Given the description of an element on the screen output the (x, y) to click on. 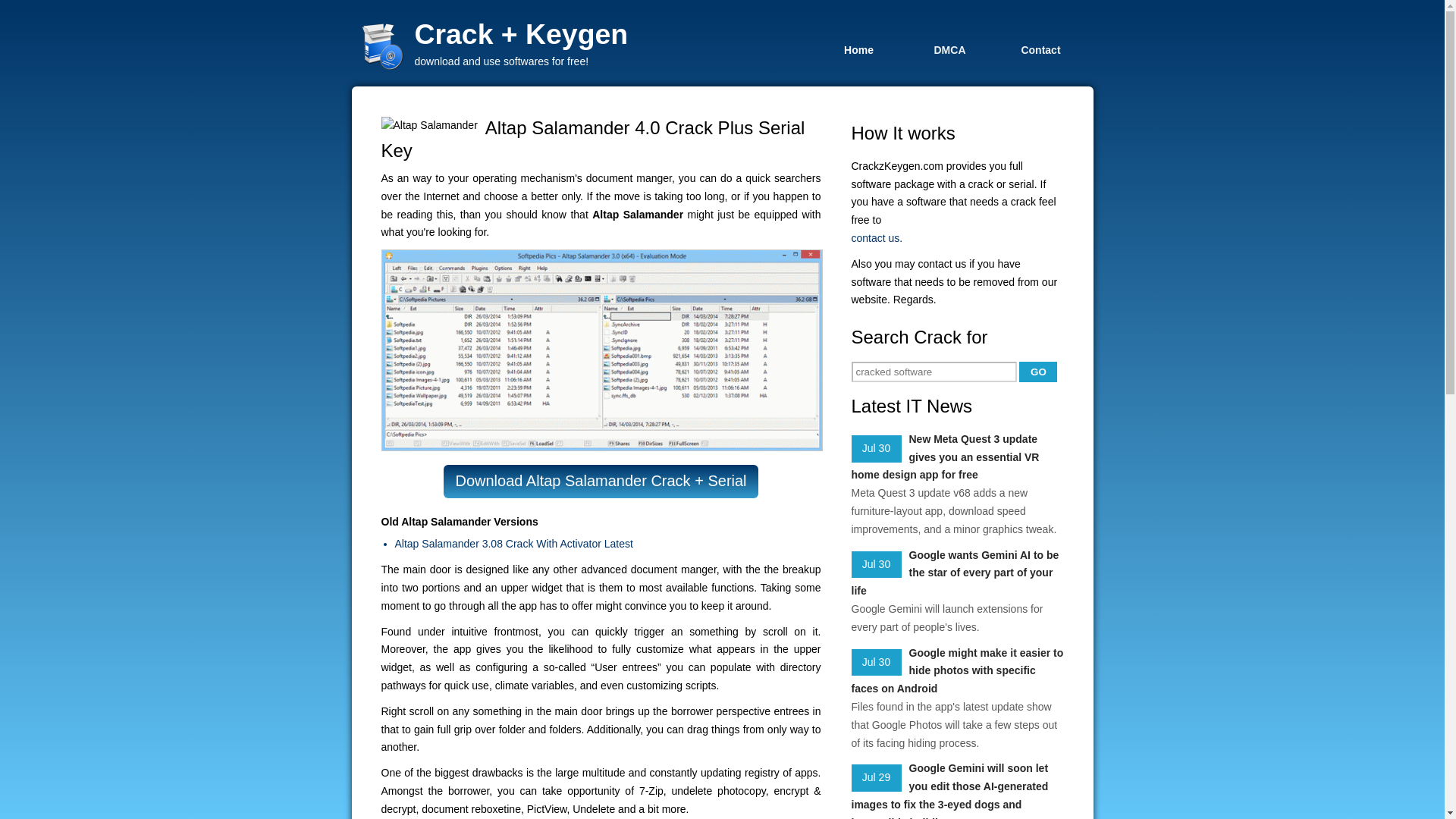
Contact (1040, 48)
Altap Salamander 3.08 Crack With Activator Latest (607, 544)
DMCA (949, 48)
GO (1038, 371)
Home (858, 48)
contact us. (956, 239)
GO (1038, 371)
